Given the description of an element on the screen output the (x, y) to click on. 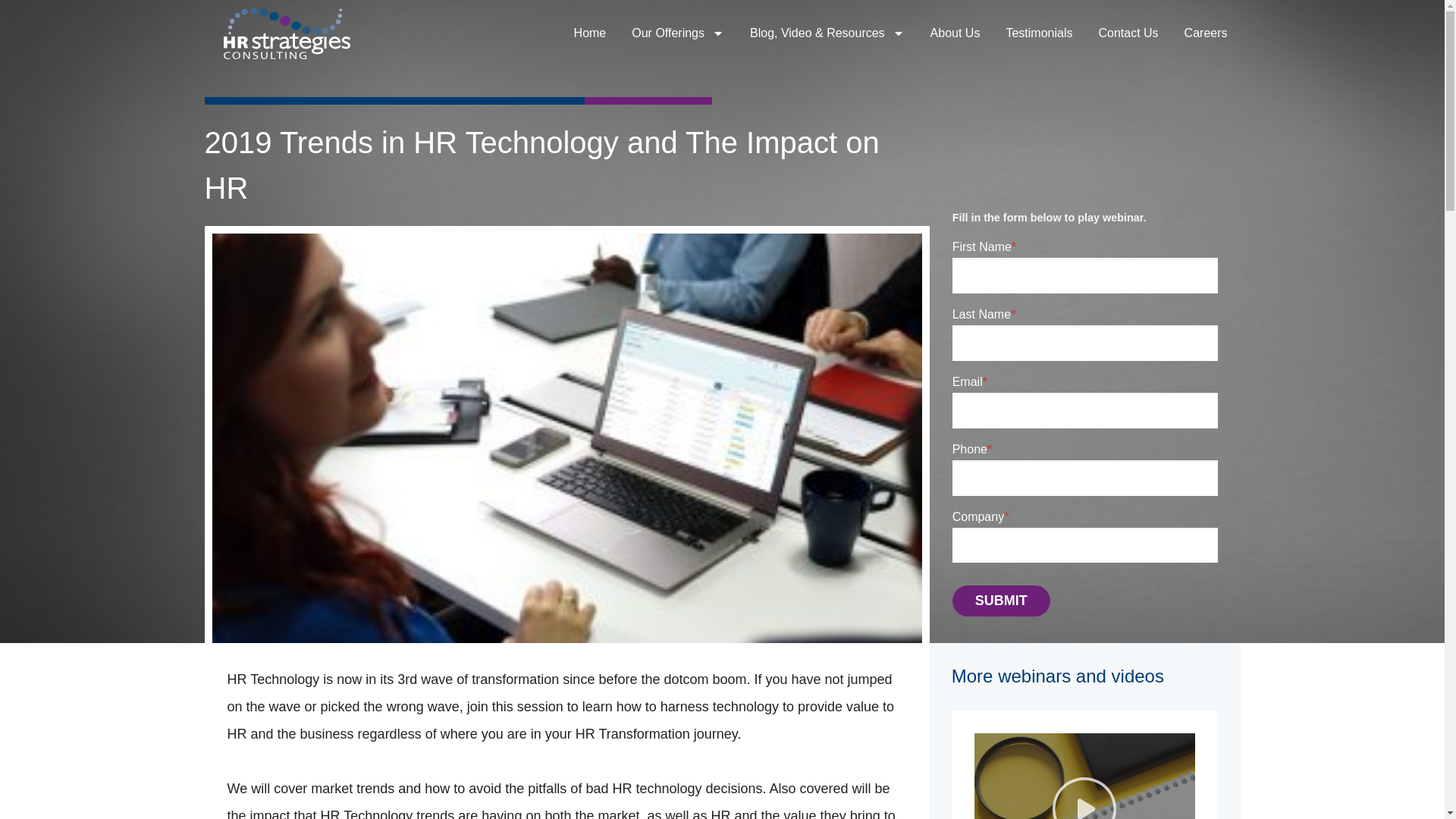
SUBMIT (1000, 600)
Home (590, 33)
Testimonials (1038, 33)
Contact Us (1127, 33)
About Us (954, 33)
Our Offerings (677, 33)
Careers (1206, 33)
